Given the description of an element on the screen output the (x, y) to click on. 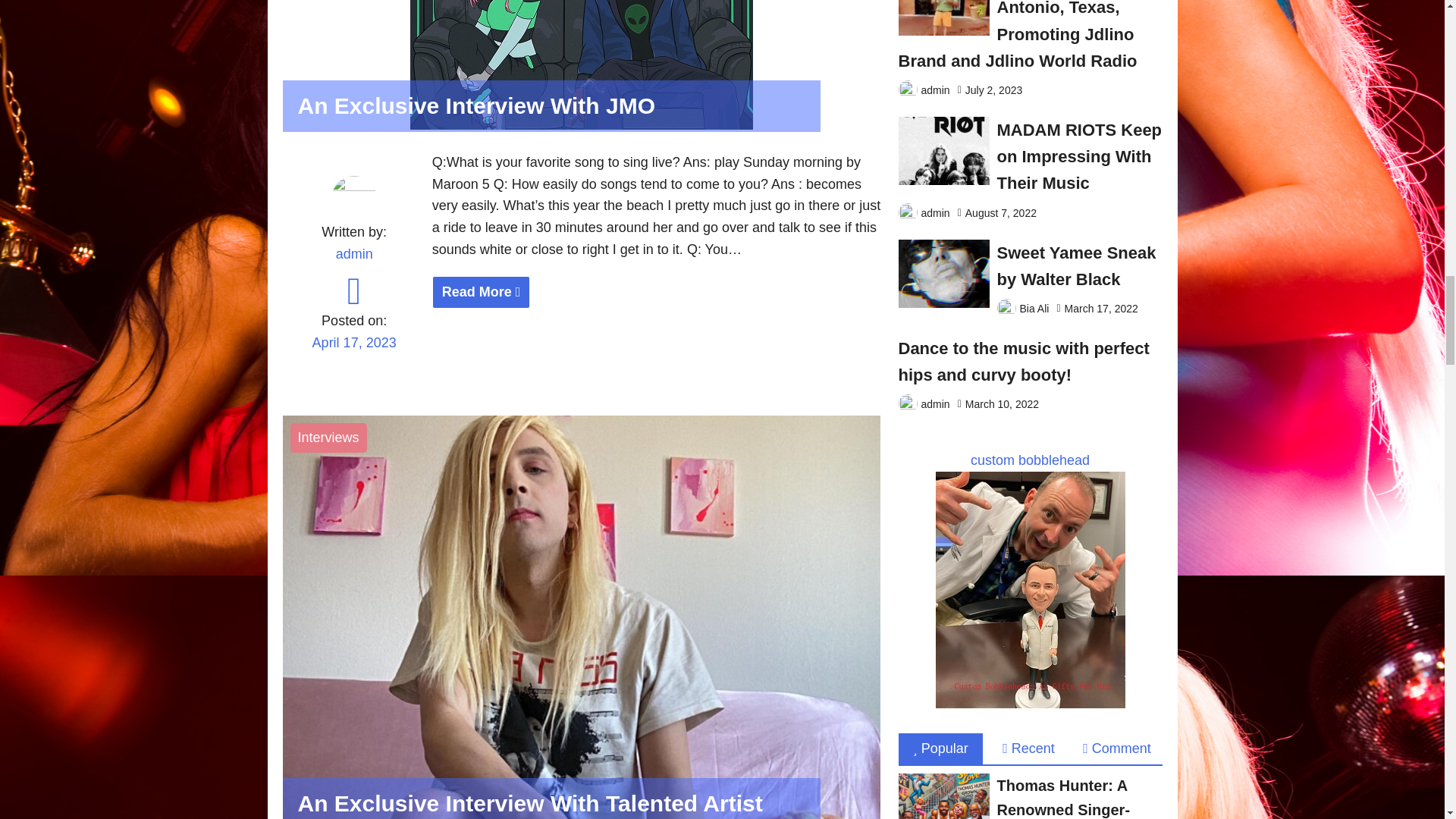
An Exclusive Interview With JMO (656, 292)
An Exclusive Interview With JMO (581, 124)
